Given the description of an element on the screen output the (x, y) to click on. 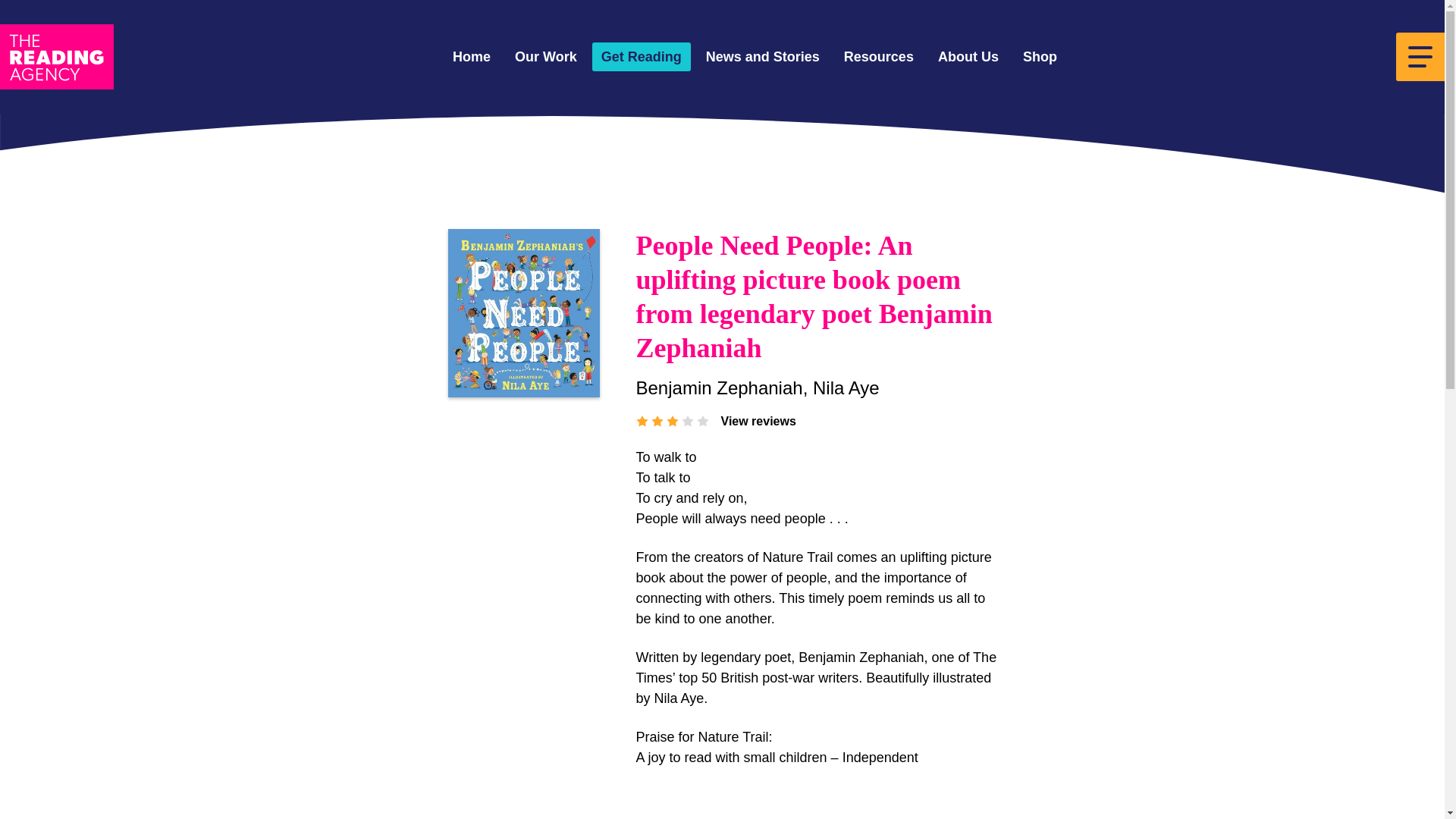
Get Reading (641, 57)
View reviews (757, 421)
Resources (878, 57)
News and Stories (762, 57)
Shop (1039, 57)
About Us (967, 57)
Home (471, 57)
Our Work (545, 57)
